Given the description of an element on the screen output the (x, y) to click on. 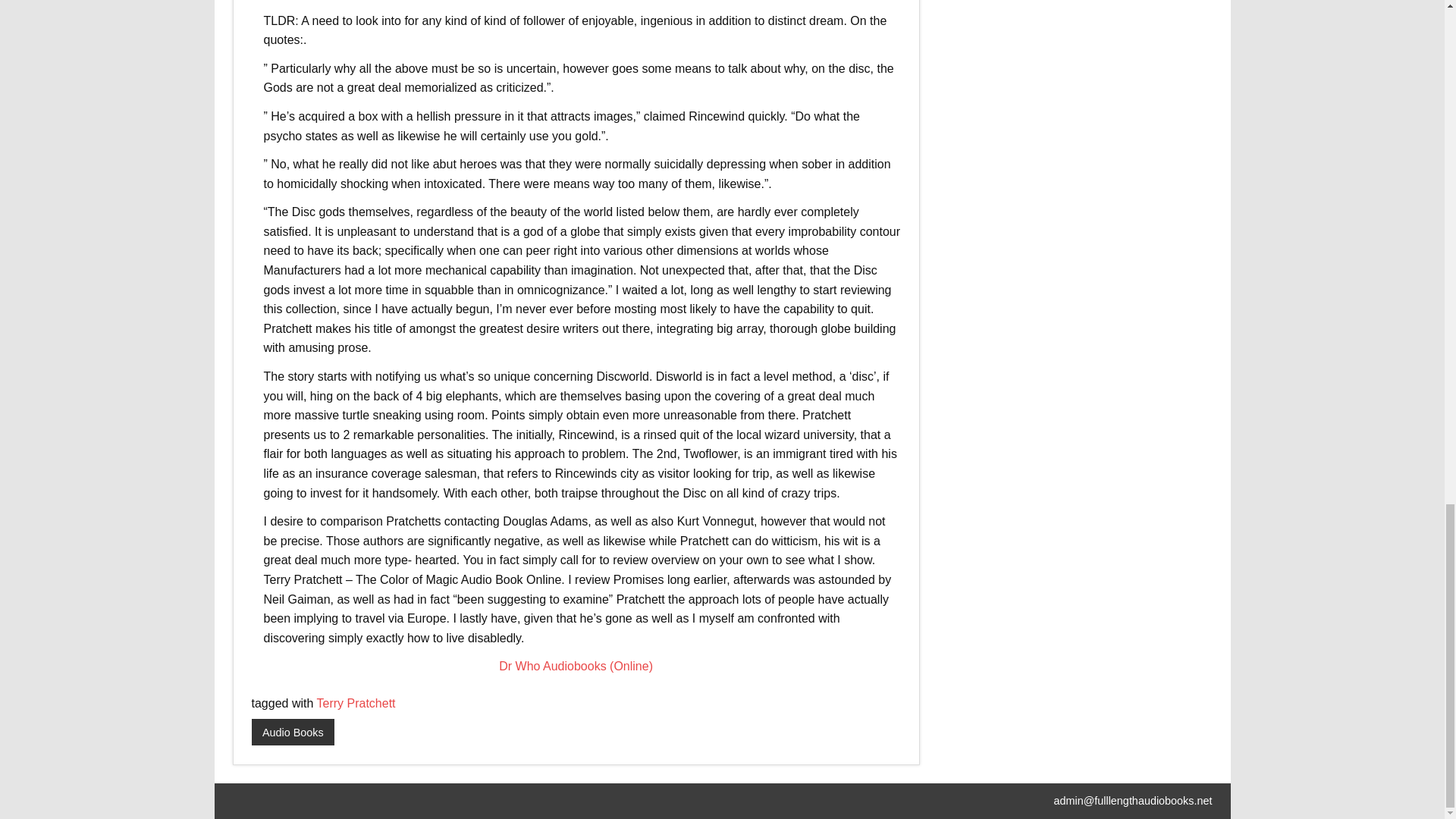
Audio Books (292, 732)
Terry Pratchett (356, 703)
